Given the description of an element on the screen output the (x, y) to click on. 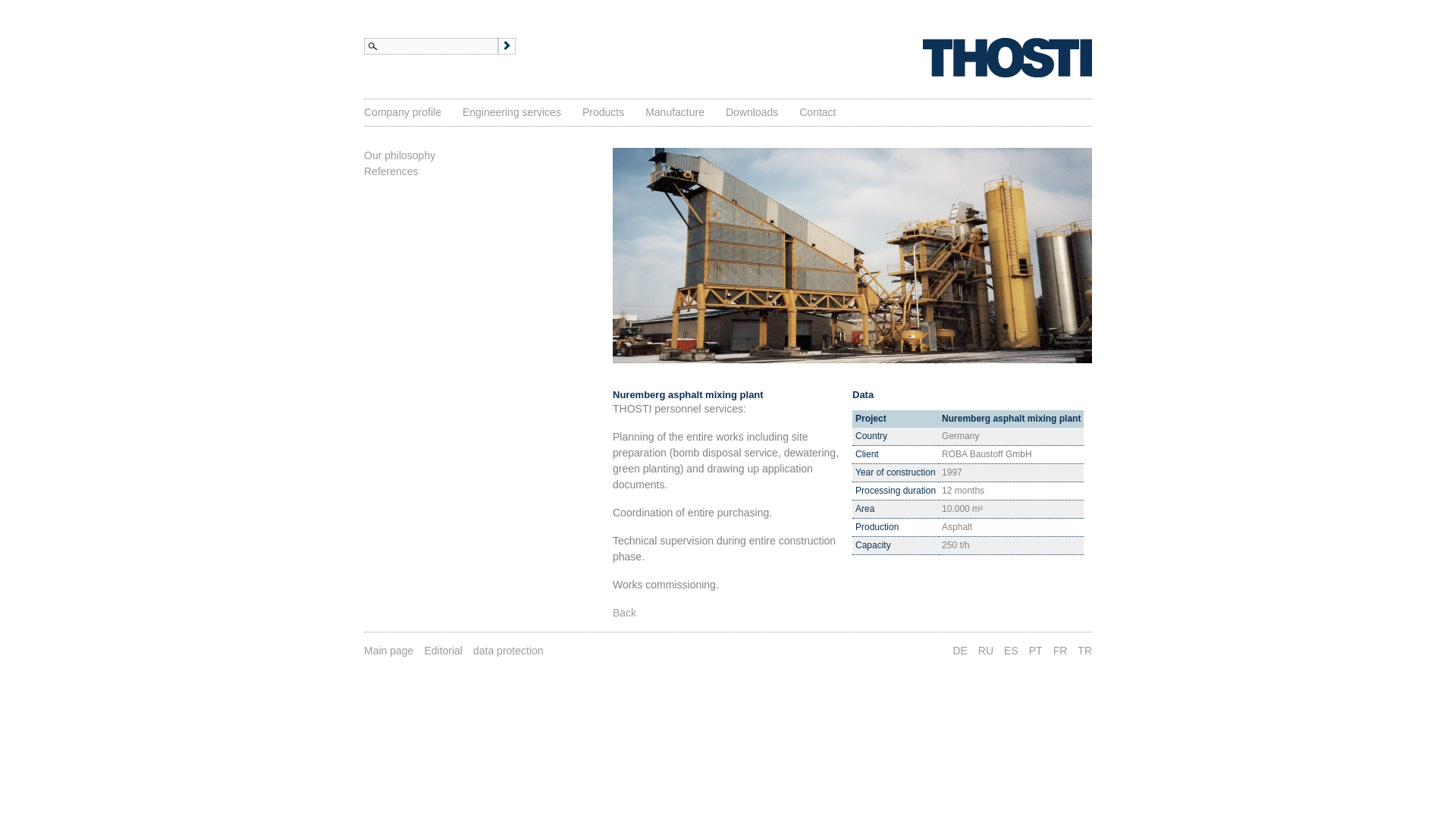
Contact (817, 111)
Products (603, 111)
References (391, 171)
Products (603, 111)
Our philosophy (399, 155)
References (391, 171)
Downloads (751, 111)
Our philosophy (399, 155)
Company profile (402, 111)
Company profile (402, 111)
absenden (507, 44)
Engineering services (511, 111)
Back (624, 612)
